Given the description of an element on the screen output the (x, y) to click on. 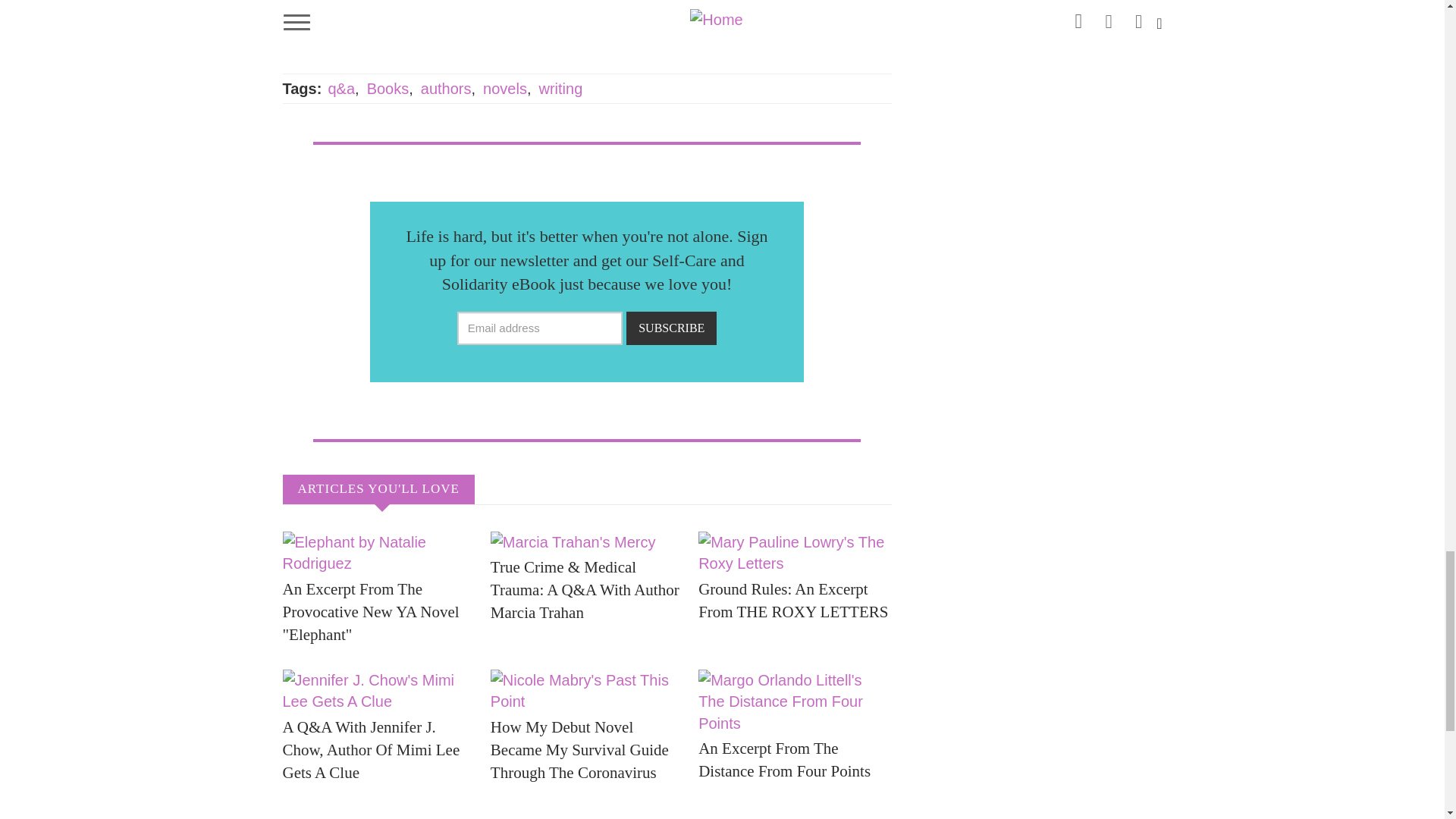
SUBSCRIBE (671, 327)
